Given the description of an element on the screen output the (x, y) to click on. 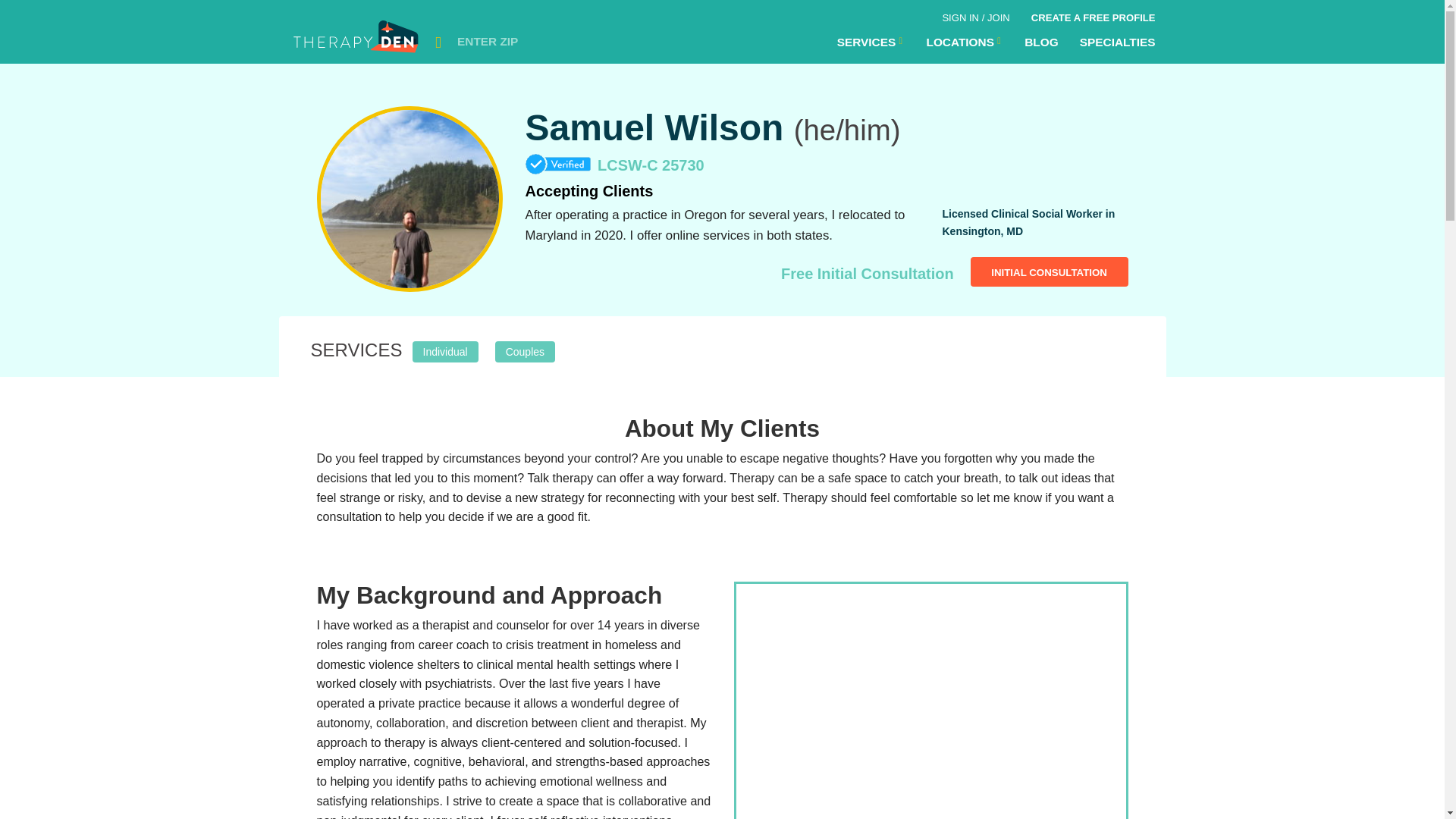
Locations (964, 41)
Individual (445, 349)
TherapyDen Home (357, 41)
Specialties (1117, 41)
Couples (524, 349)
BLOG (1040, 41)
CREATE A FREE PROFILE (1093, 15)
SERVICES (871, 41)
LOCATIONS (964, 41)
License information verified by TherapyDen (558, 165)
